Given the description of an element on the screen output the (x, y) to click on. 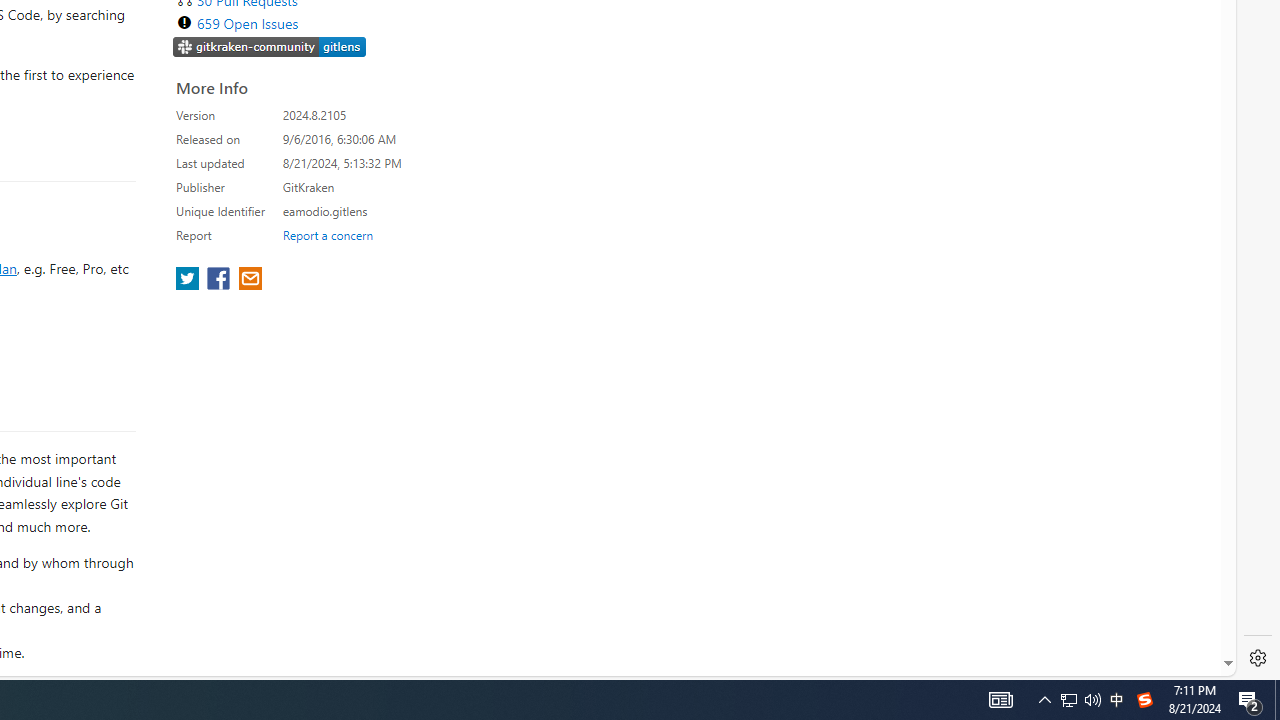
share extension on facebook (220, 280)
share extension on twitter (190, 280)
https://slack.gitkraken.com// (269, 48)
https://slack.gitkraken.com// (269, 46)
Report a concern (327, 234)
share extension on email (249, 280)
